Given the description of an element on the screen output the (x, y) to click on. 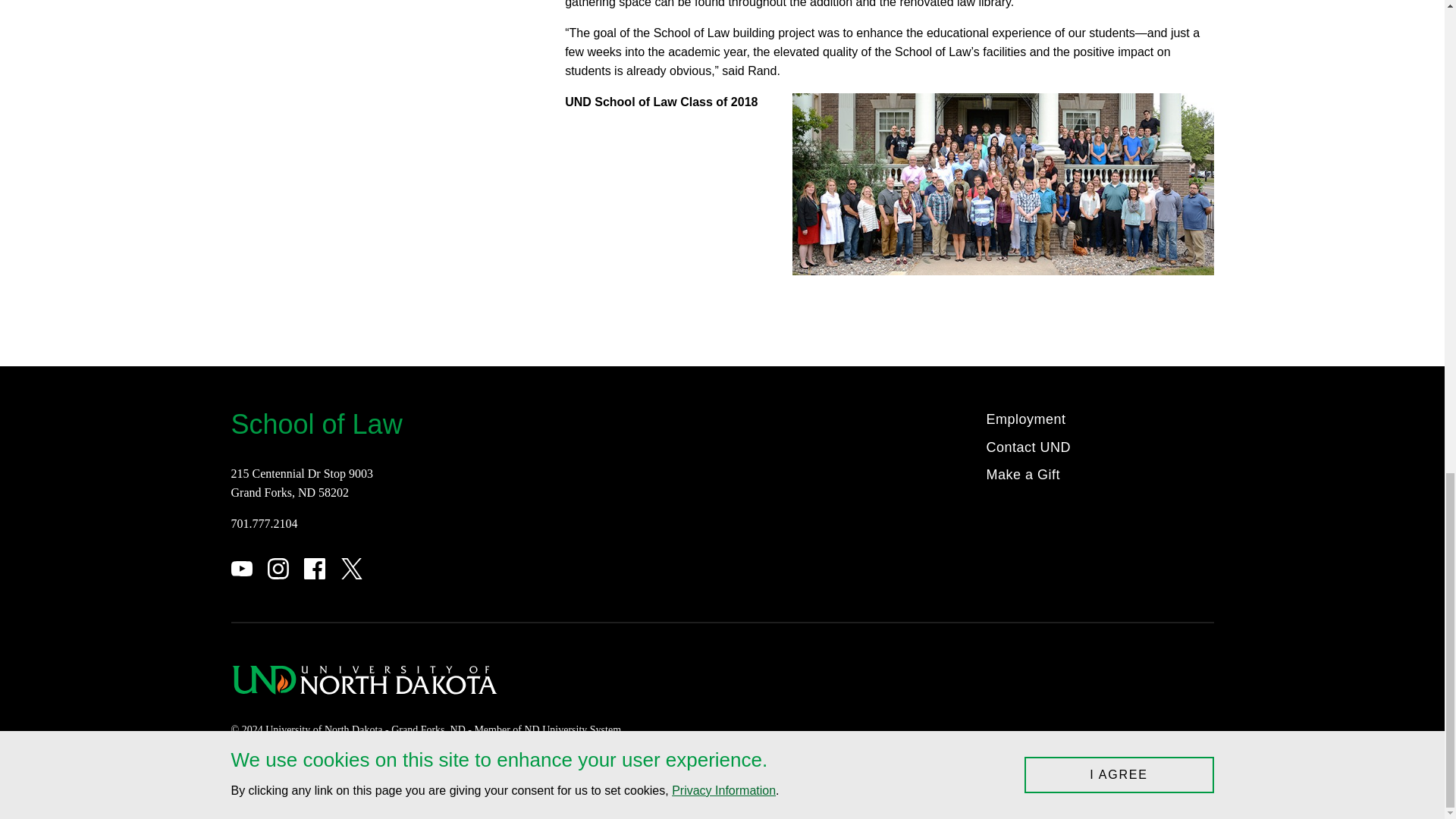
YouTube (240, 568)
Instagram (277, 568)
Facebook (314, 568)
Twitter (351, 568)
